Given the description of an element on the screen output the (x, y) to click on. 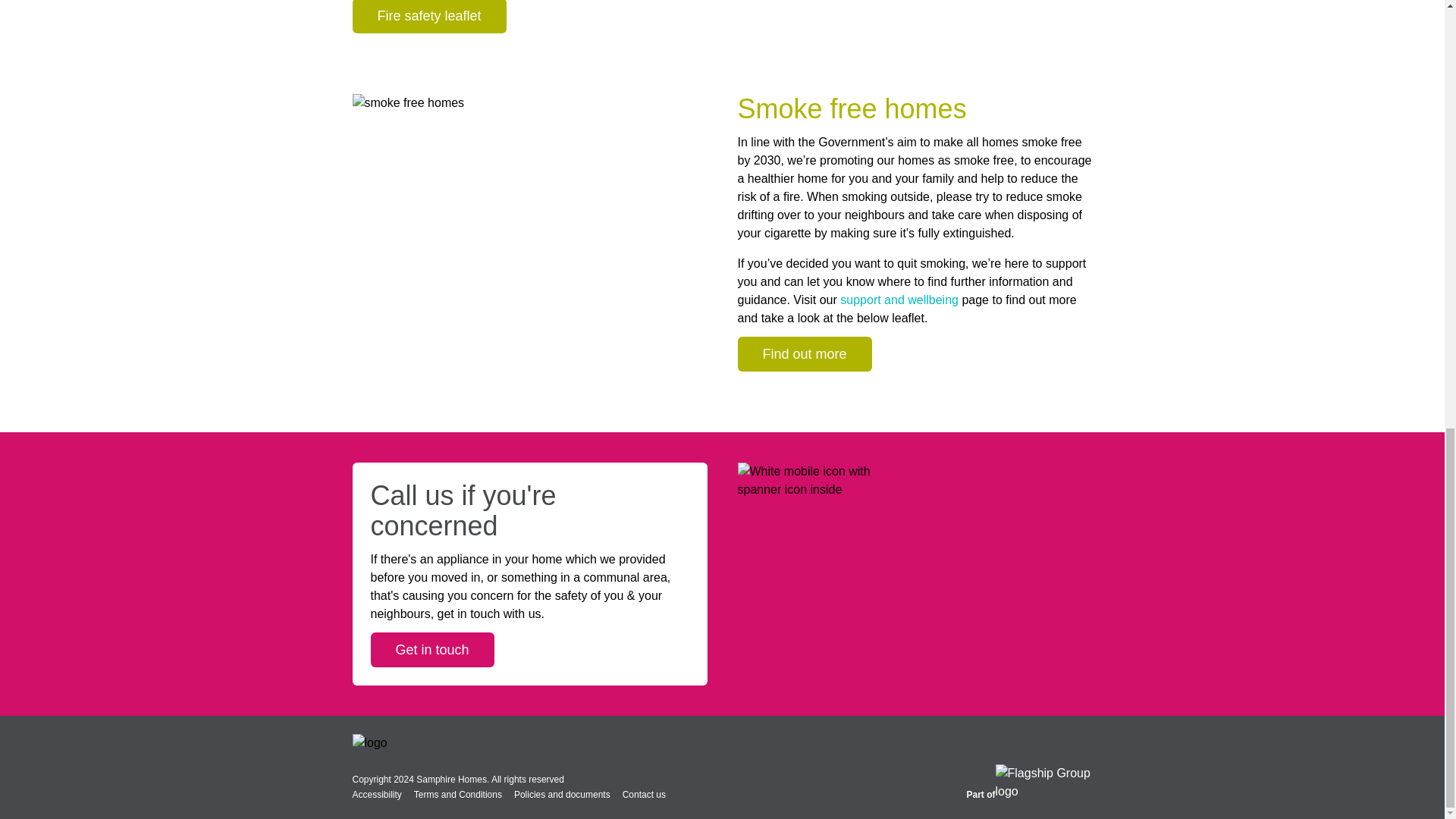
link to Flagship group site (1043, 782)
Support and wellbeing (900, 299)
